Given the description of an element on the screen output the (x, y) to click on. 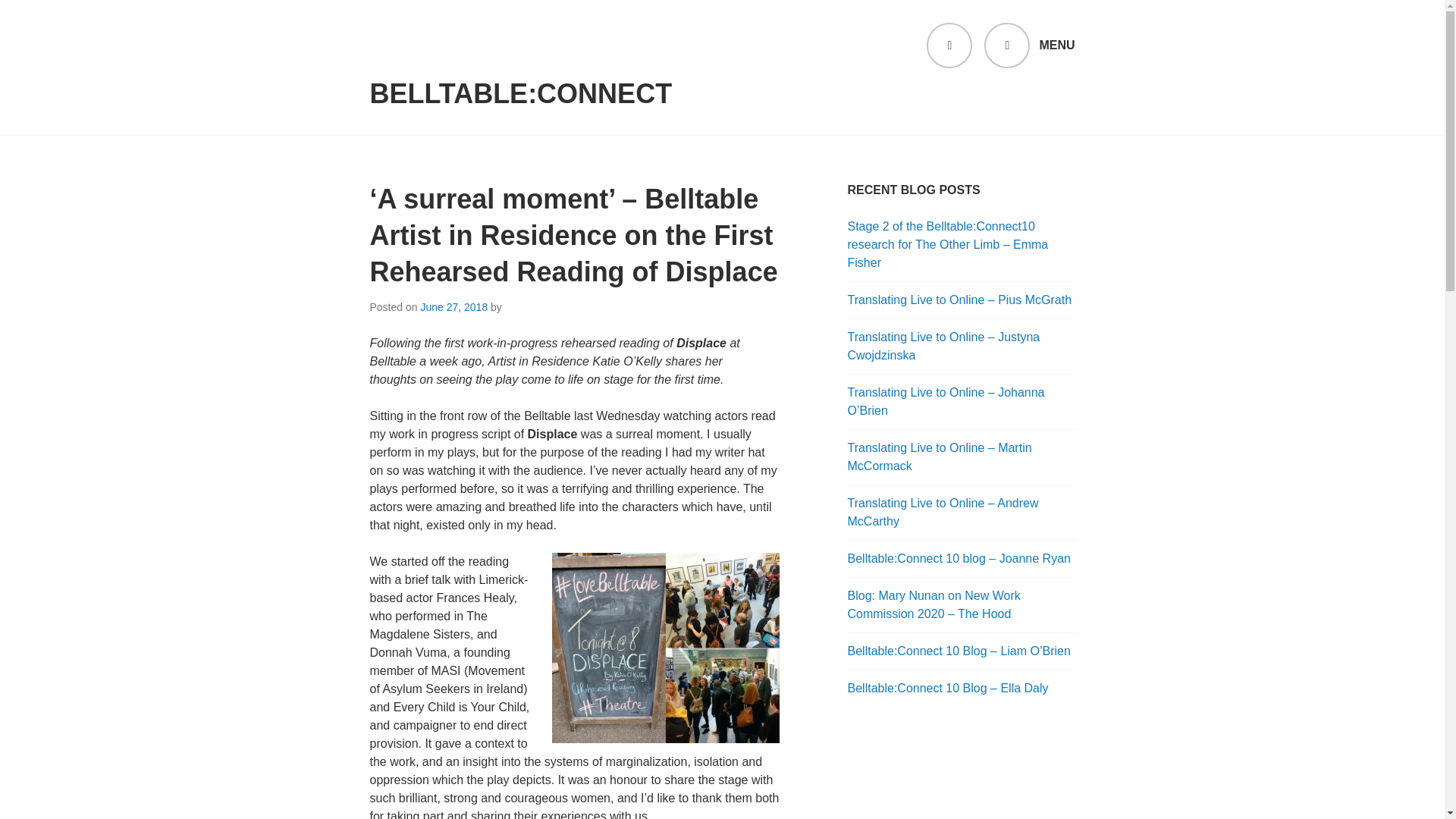
BELLTABLE:CONNECT (520, 94)
June 27, 2018 (453, 306)
SEARCH (949, 44)
MENU (1029, 44)
